Given the description of an element on the screen output the (x, y) to click on. 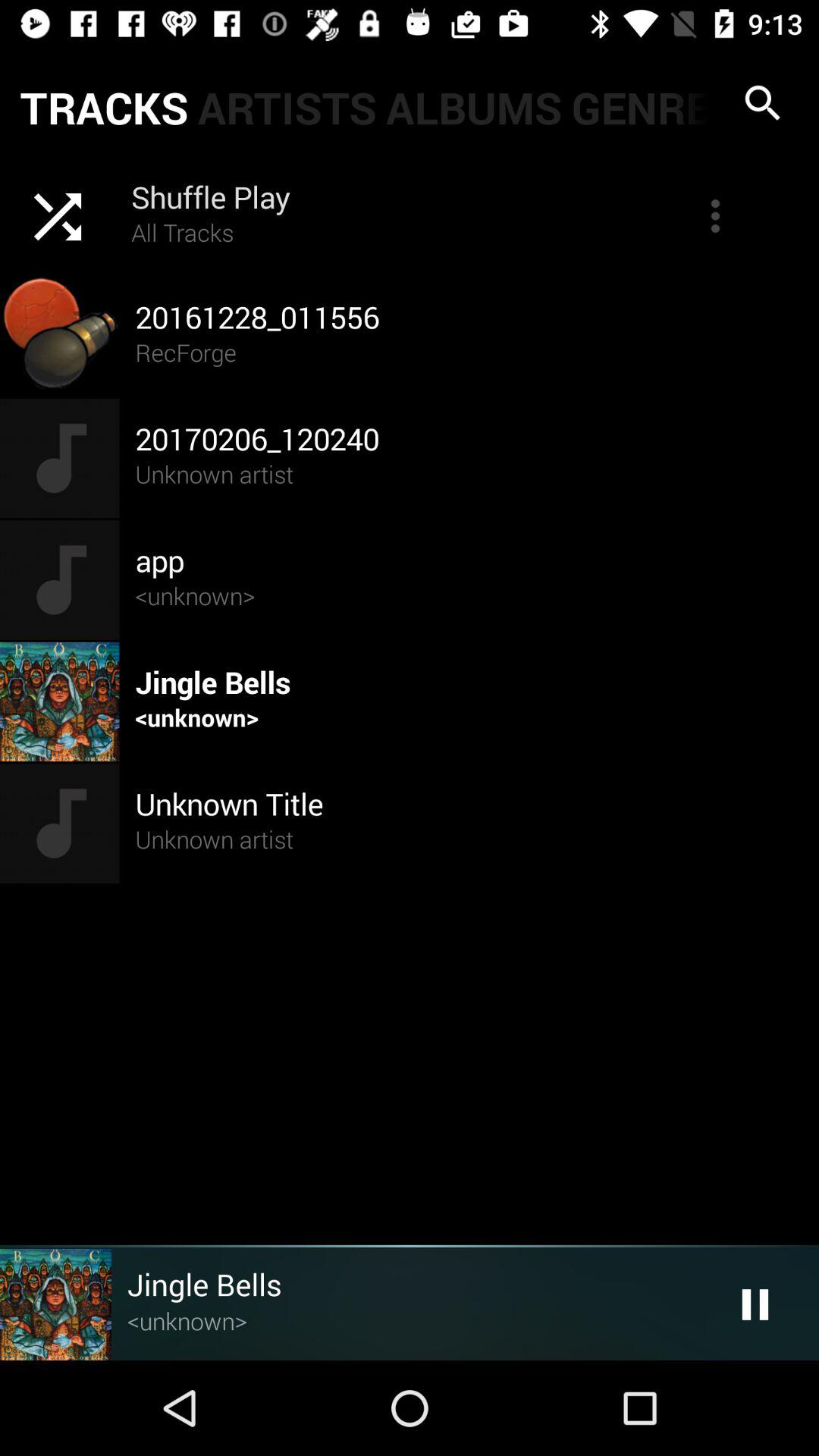
toggle options (715, 216)
